Given the description of an element on the screen output the (x, y) to click on. 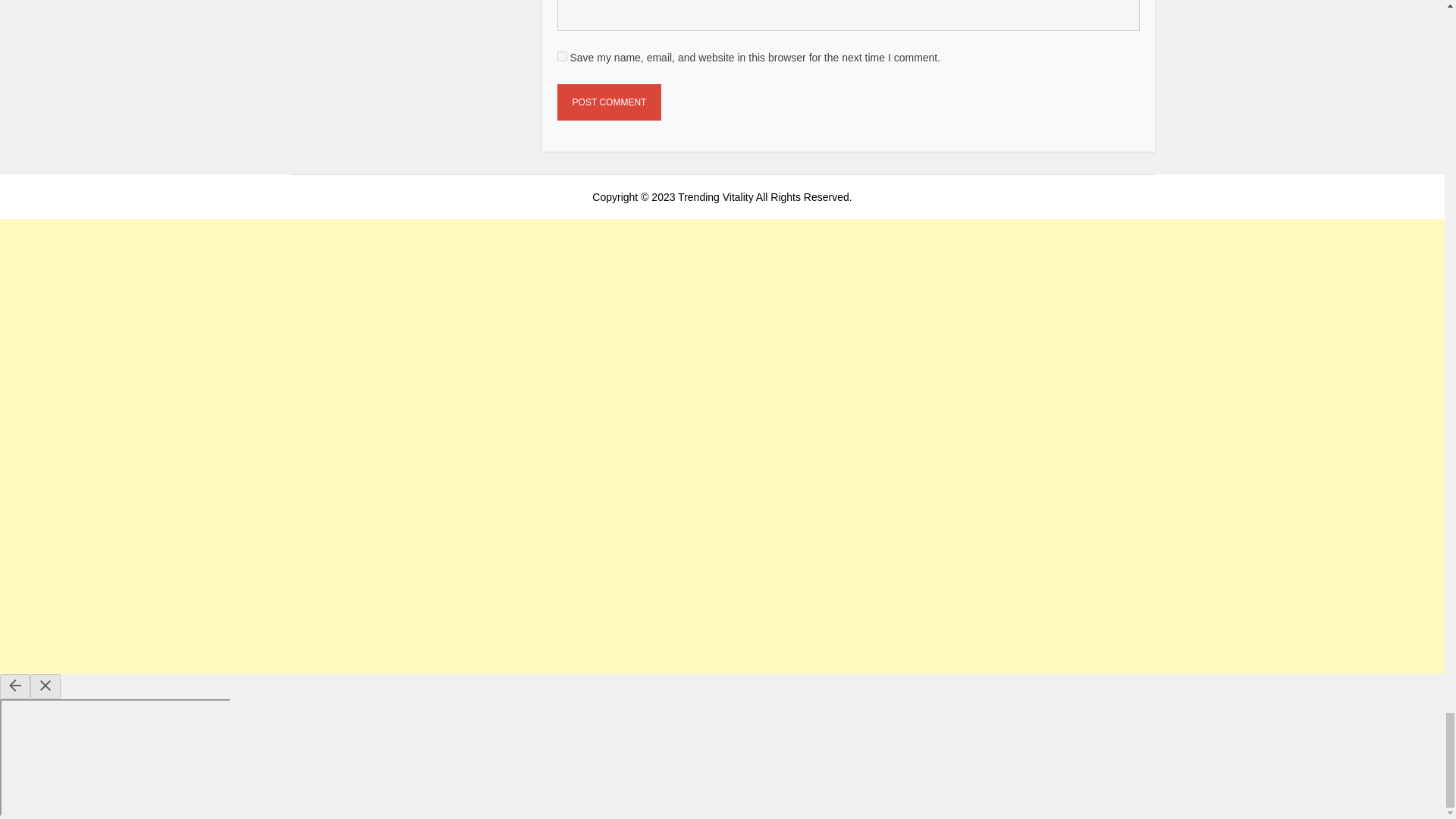
Post Comment (609, 102)
Post Comment (609, 102)
yes (562, 56)
